Given the description of an element on the screen output the (x, y) to click on. 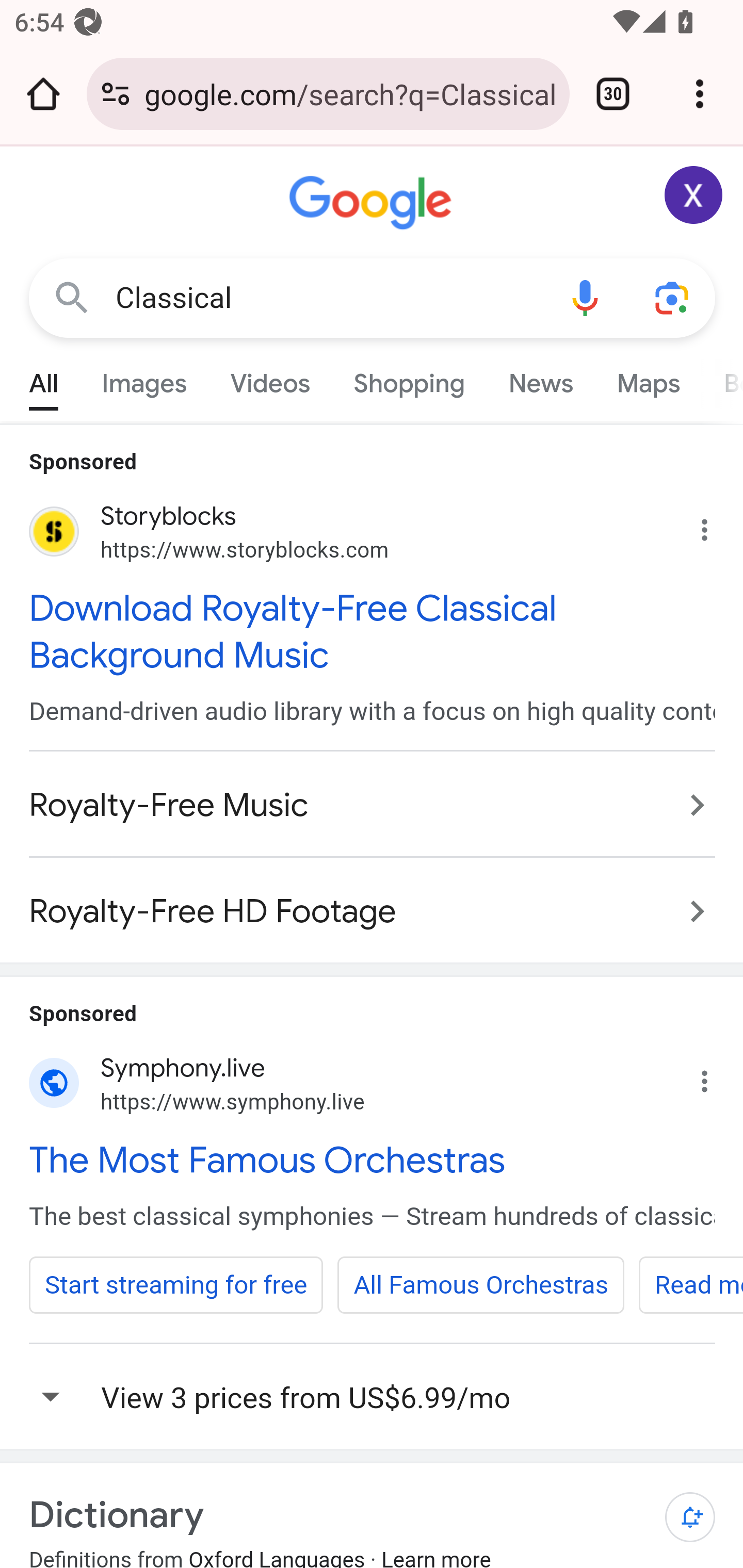
Open the home page (43, 93)
Connection is secure (115, 93)
Switch or close tabs (612, 93)
Customize and control Google Chrome (699, 93)
Google (372, 203)
Google Account: Xiaoran (zxrappiumtest@gmail.com) (694, 195)
Google Search (71, 296)
Search using your camera or photos (672, 296)
Classical (328, 297)
Images (144, 378)
Videos (270, 378)
Shopping (408, 378)
News (540, 378)
Maps (647, 378)
Why this ad? (714, 525)
Download Royalty-Free Classical Background Music (372, 631)
Royalty-Free Music (372, 805)
Royalty-Free HD Footage (372, 901)
Why this ad? (714, 1076)
The Most Famous Orchestras (372, 1158)
Start streaming for free (176, 1283)
All Famous Orchestras (480, 1283)
Read more about Symphony (690, 1283)
Menu (372, 1396)
Get notifications about Word of the day (690, 1516)
Oxford Languages (276, 1557)
Learn more (435, 1557)
